Given the description of an element on the screen output the (x, y) to click on. 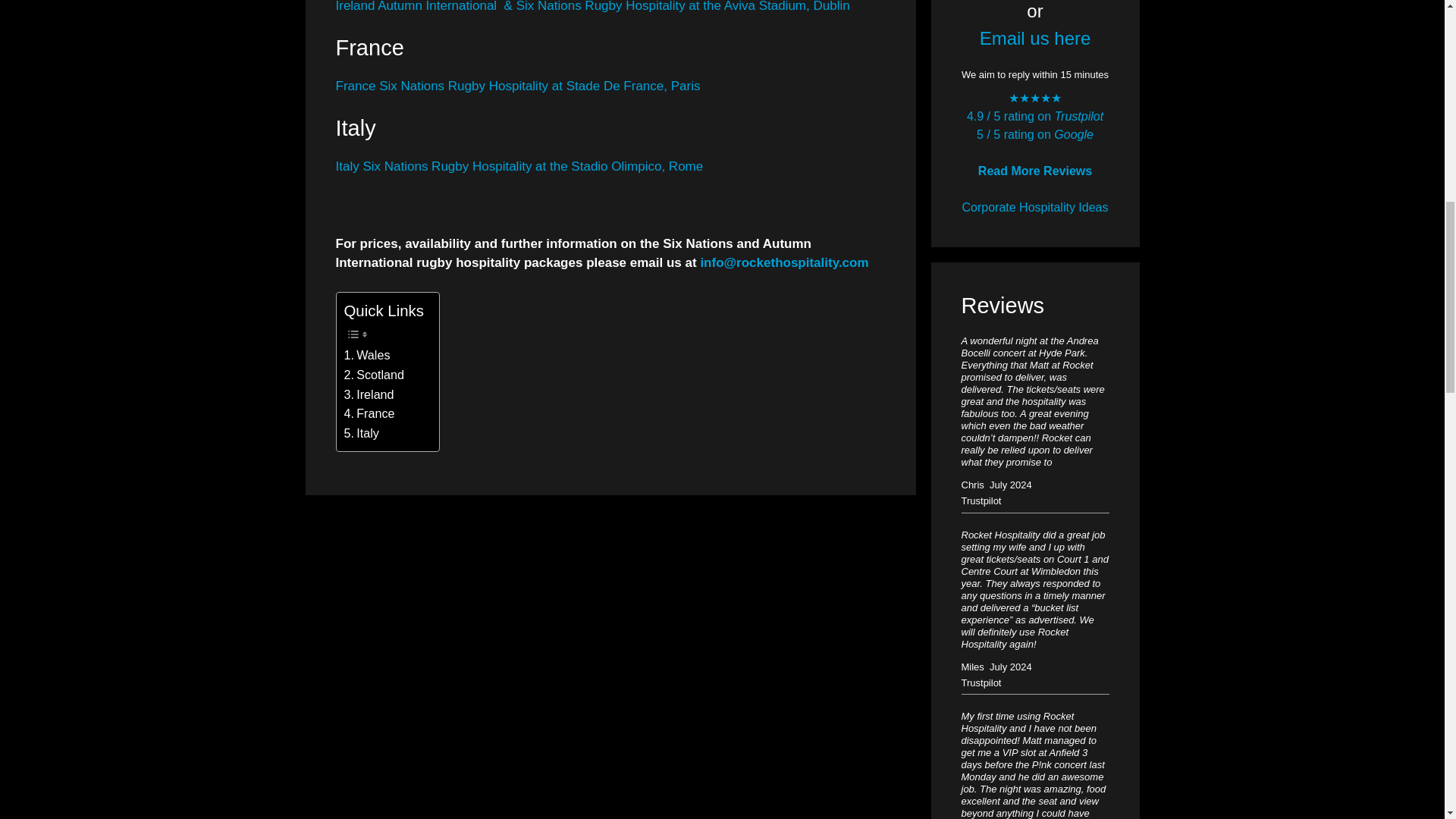
Italy (360, 433)
Scotland (373, 374)
Scroll back to top (1406, 720)
Six Nations Aviva Stadium Hospitality (591, 6)
Ireland (368, 394)
Six Nations Aviva Stadium Hospitality (517, 85)
Wales (366, 355)
France (368, 414)
